Given the description of an element on the screen output the (x, y) to click on. 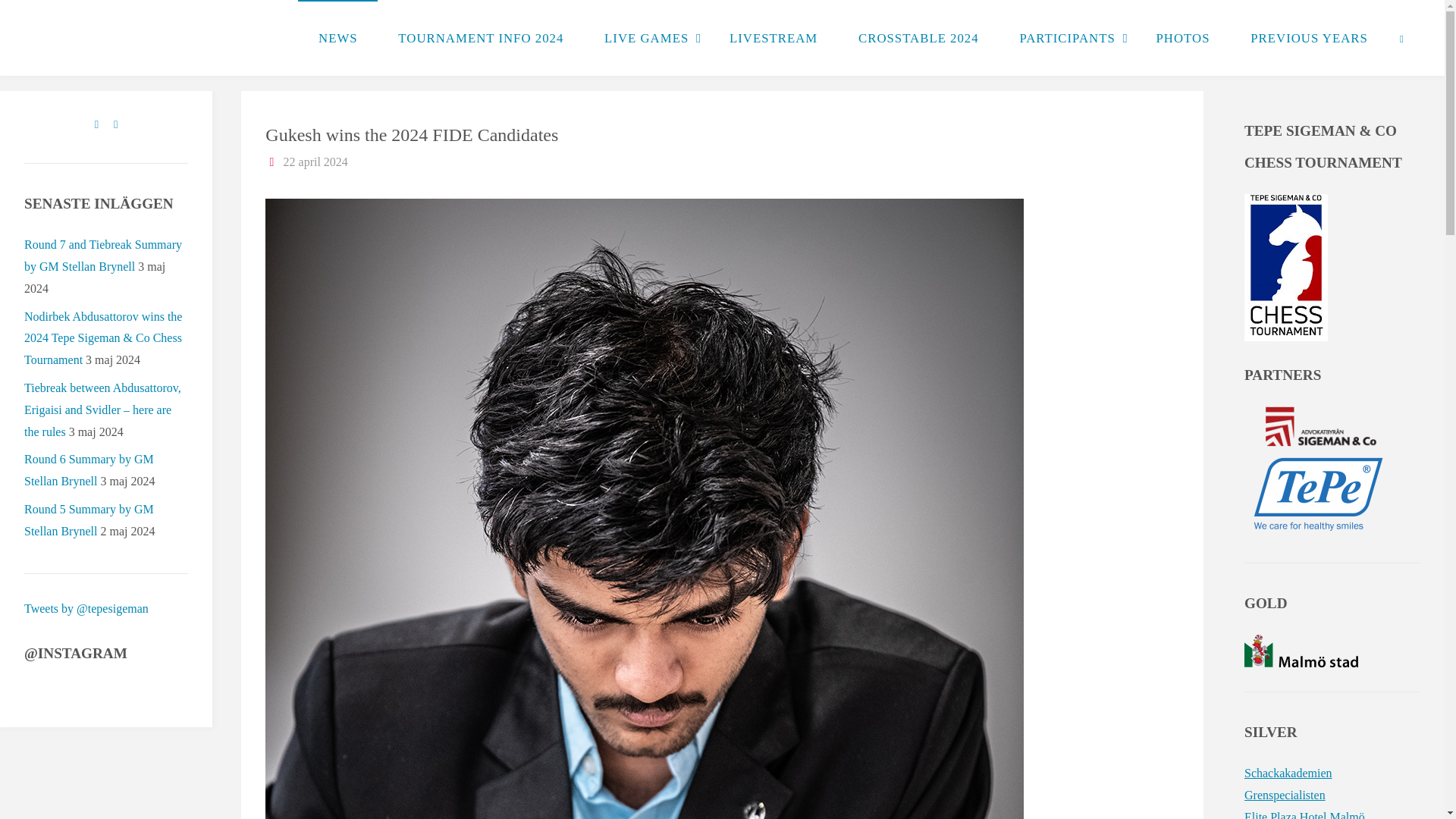
TOURNAMENT INFO 2024 (480, 38)
LIVE GAMES (646, 38)
Twitter (115, 125)
Facebook (96, 125)
Datum (271, 161)
NEWS (337, 38)
